Given the description of an element on the screen output the (x, y) to click on. 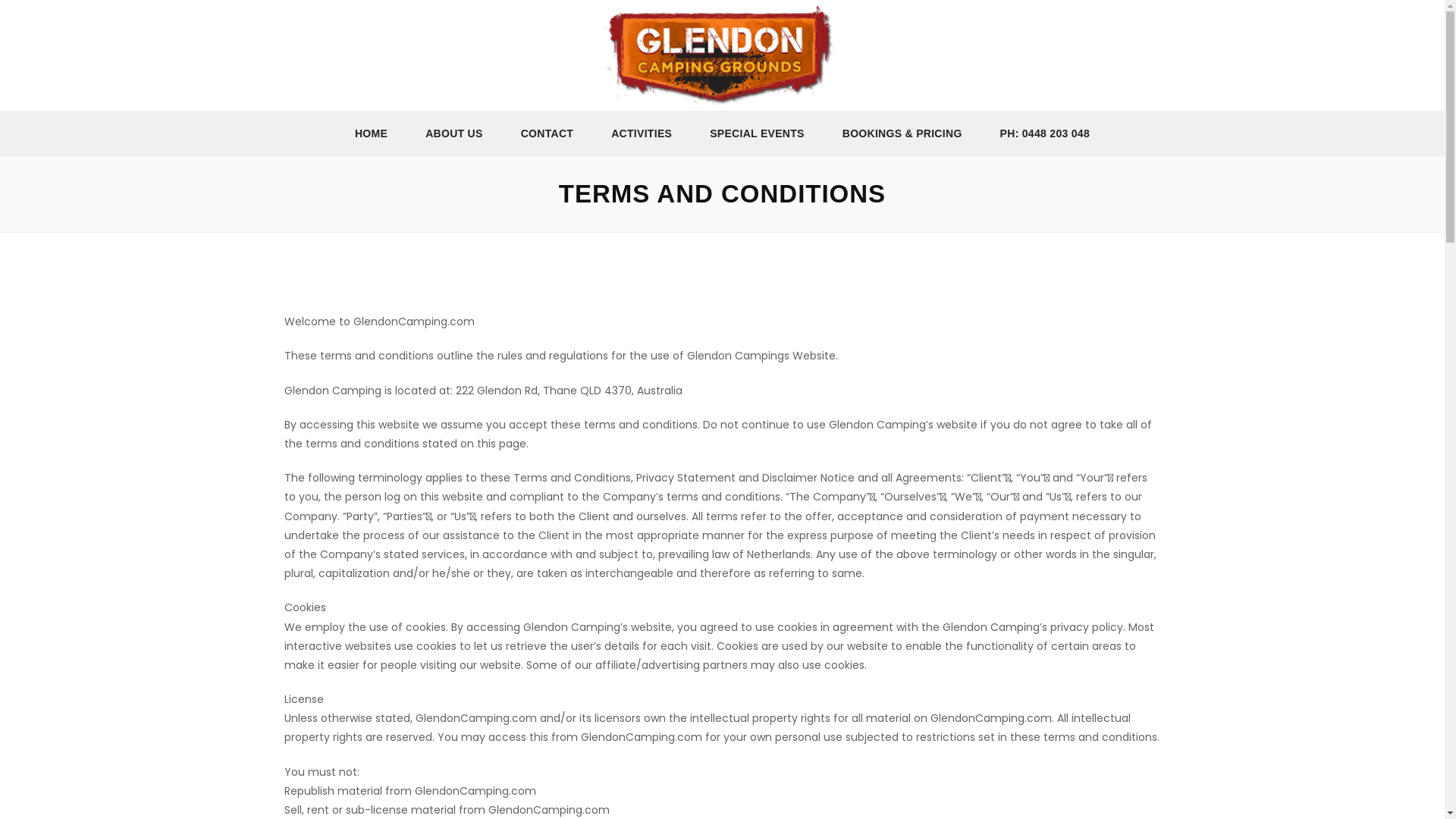
ACTIVITIES Element type: text (641, 132)
ABOUT US Element type: text (454, 132)
BOOKINGS & PRICING Element type: text (902, 132)
PH: 0448 203 048 Element type: text (1044, 132)
HOME Element type: text (370, 132)
CONTACT Element type: text (547, 132)
SPECIAL EVENTS Element type: text (756, 132)
